Given the description of an element on the screen output the (x, y) to click on. 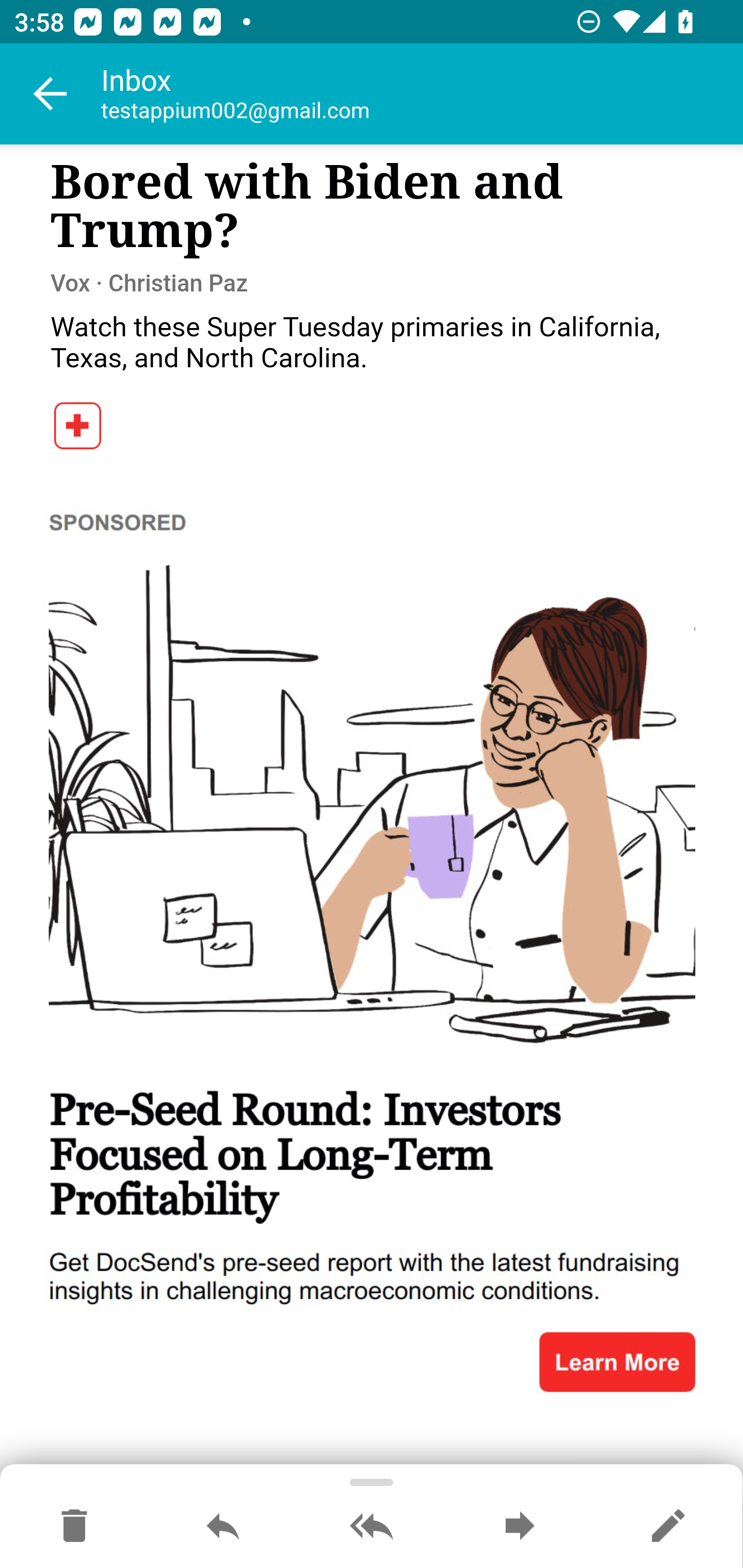
Navigate up (50, 93)
Inbox testappium002@gmail.com (422, 93)
FLIP  (78, 430)
Move to Deleted (74, 1527)
Reply (222, 1527)
Reply all (371, 1527)
Forward (519, 1527)
Reply as new (667, 1527)
